Given the description of an element on the screen output the (x, y) to click on. 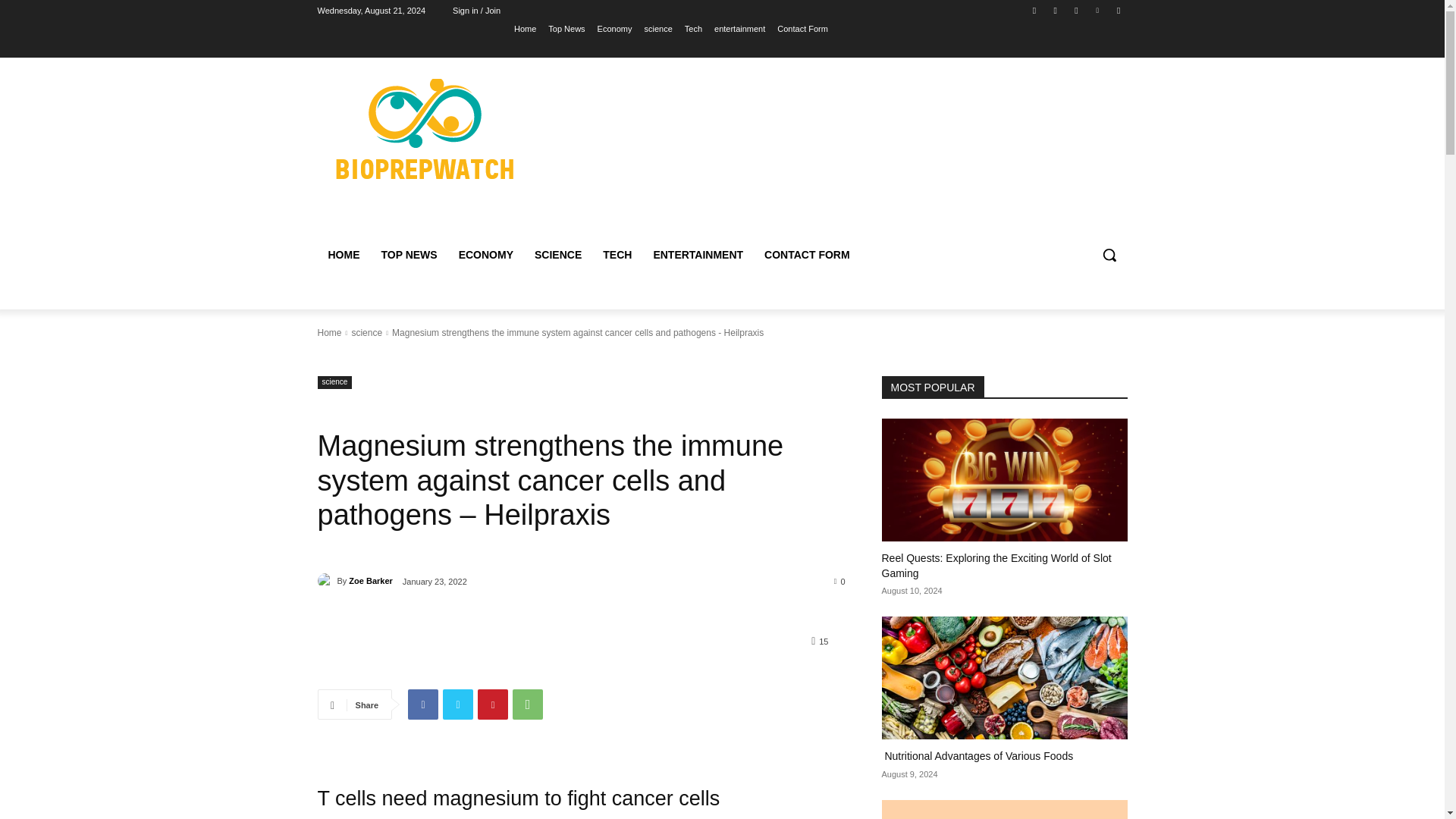
Contact Form (802, 28)
Zoe Barker (326, 580)
science (657, 28)
Vimeo (1097, 9)
HOME (343, 254)
ECONOMY (486, 254)
Youtube (1117, 9)
TECH (617, 254)
entertainment (739, 28)
Instagram (1055, 9)
